Given the description of an element on the screen output the (x, y) to click on. 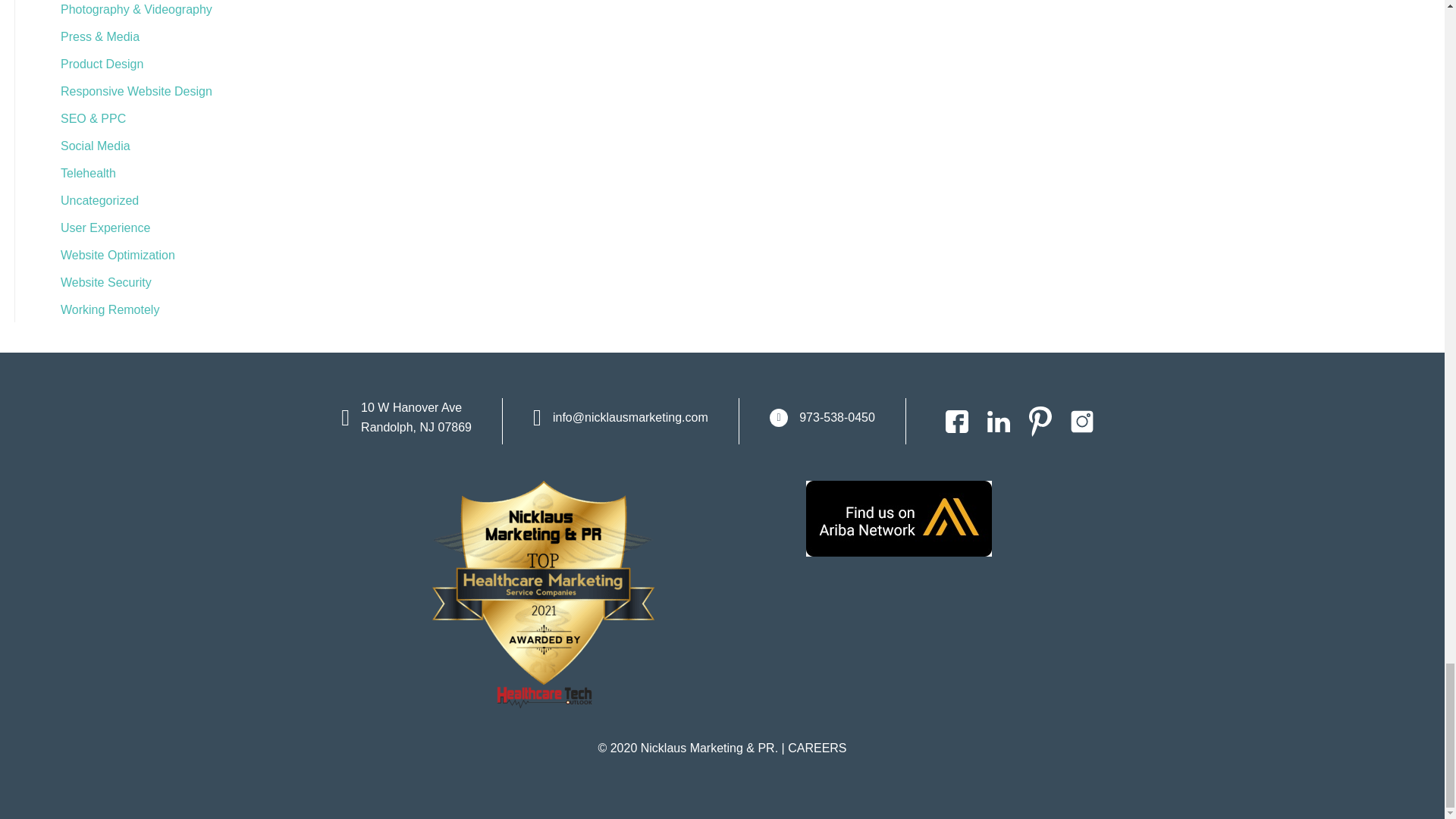
instagram-white (1081, 421)
linkedin-white (998, 422)
facebook-white (956, 421)
